Given the description of an element on the screen output the (x, y) to click on. 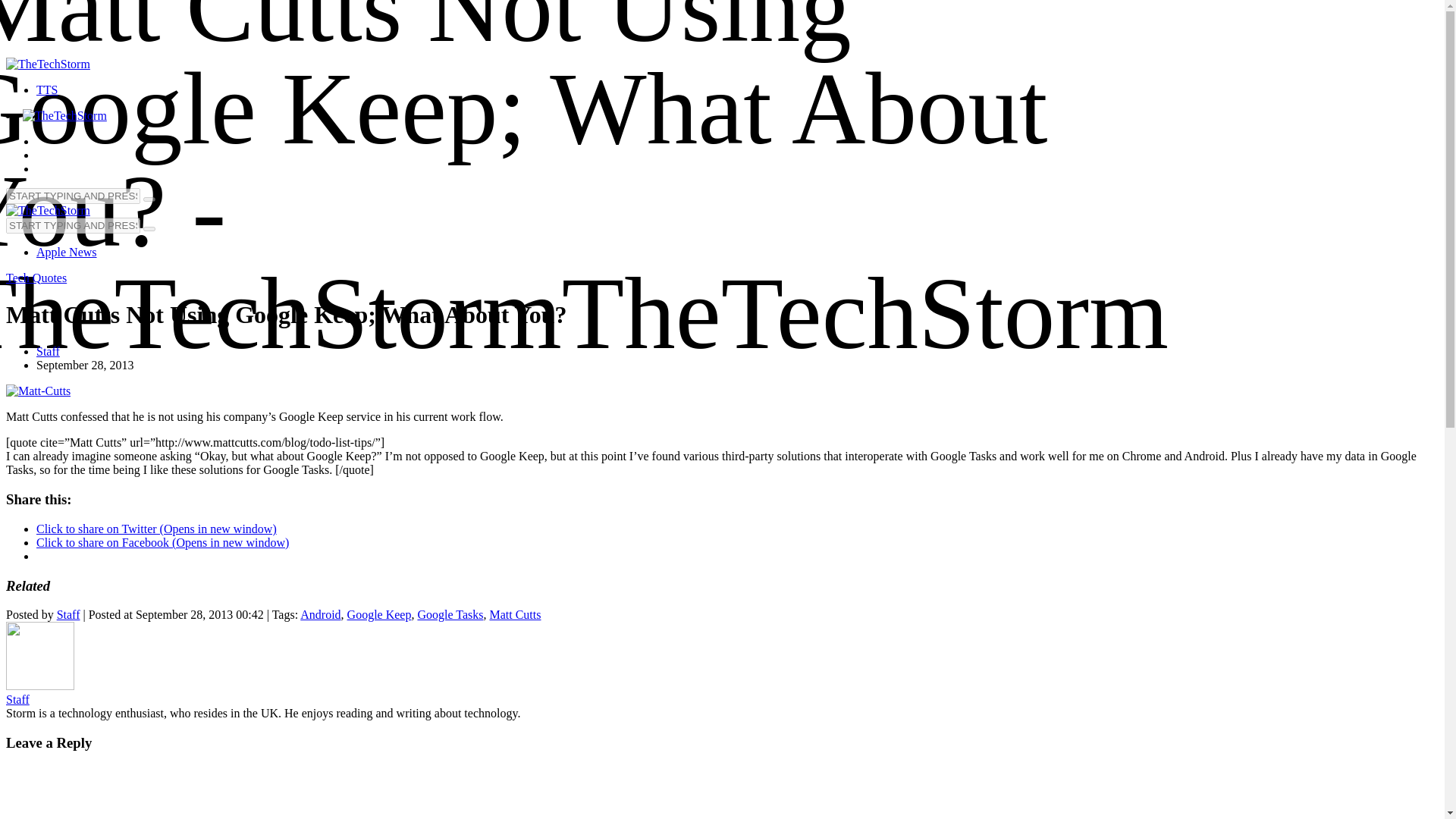
Posts by Staff (68, 614)
Apple News (66, 251)
Click to share on Twitter (156, 528)
TheTechStorm (47, 63)
Tech Quotes (35, 277)
Staff (39, 685)
Google Keep (379, 614)
Google Tasks (449, 614)
Staff (68, 614)
Staff (47, 350)
